Given the description of an element on the screen output the (x, y) to click on. 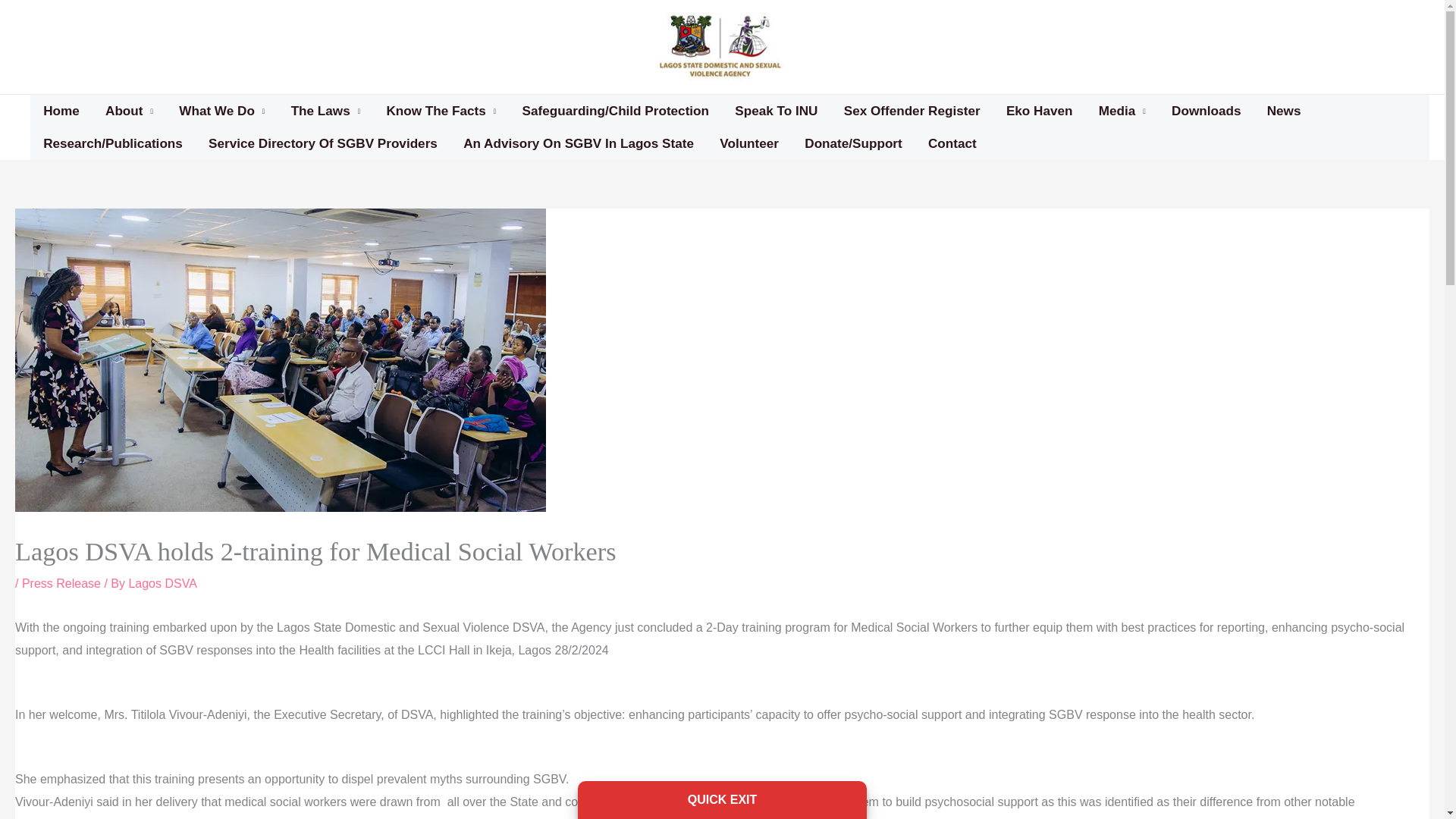
Home (61, 111)
Eko Haven (1039, 111)
View all posts by Lagos DSVA (162, 583)
The Laws (325, 111)
What We Do (221, 111)
About (129, 111)
Know The Facts (440, 111)
Sex Offender Register (911, 111)
Speak To INU (775, 111)
Media (1122, 111)
